Given the description of an element on the screen output the (x, y) to click on. 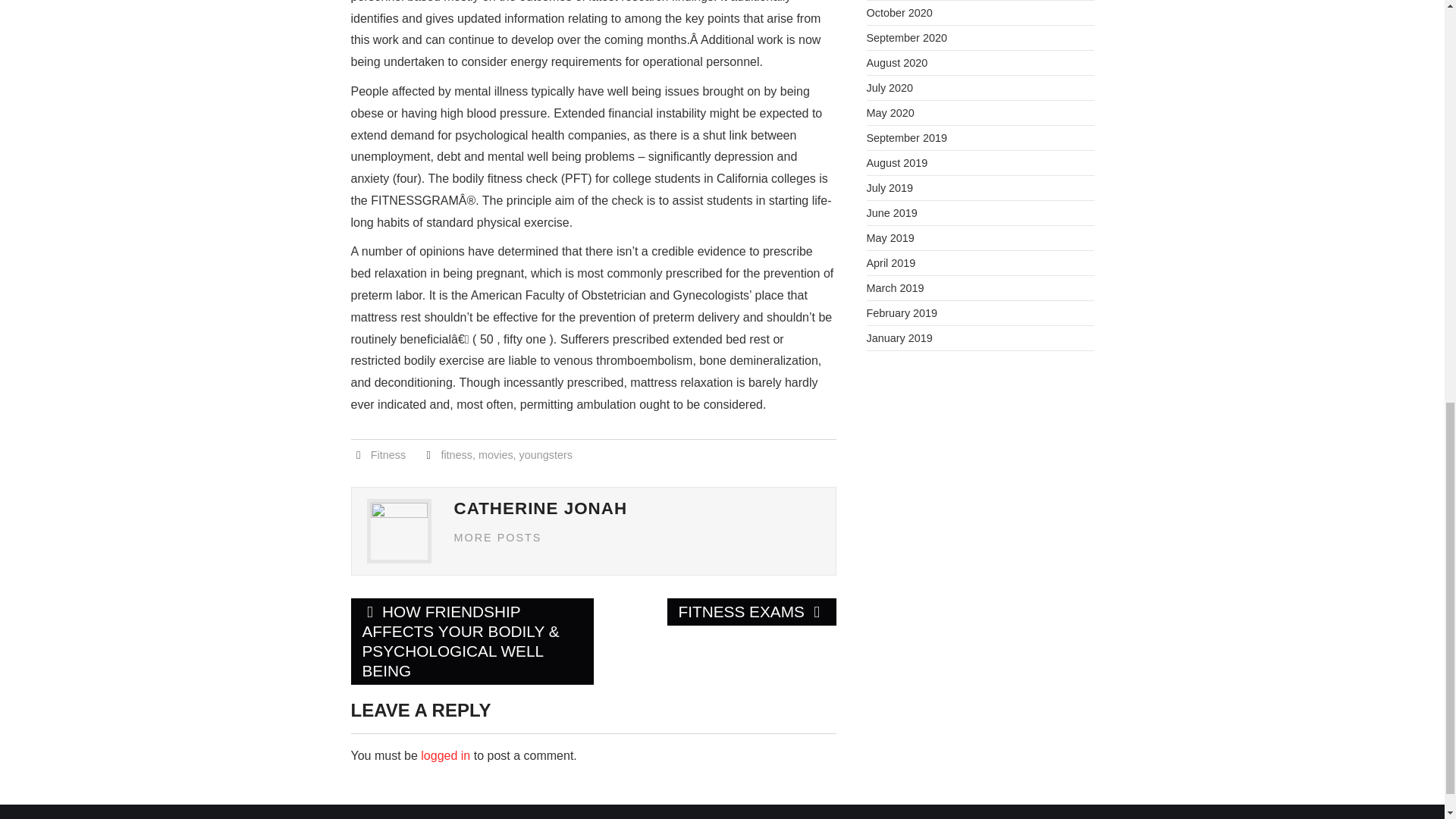
MORE POSTS (496, 537)
FITNESS EXAMS (750, 611)
fitness (456, 454)
October 2020 (898, 12)
Fitness (388, 454)
May 2020 (890, 112)
September 2020 (906, 37)
August 2020 (896, 62)
movies (496, 454)
July 2020 (889, 87)
